Given the description of an element on the screen output the (x, y) to click on. 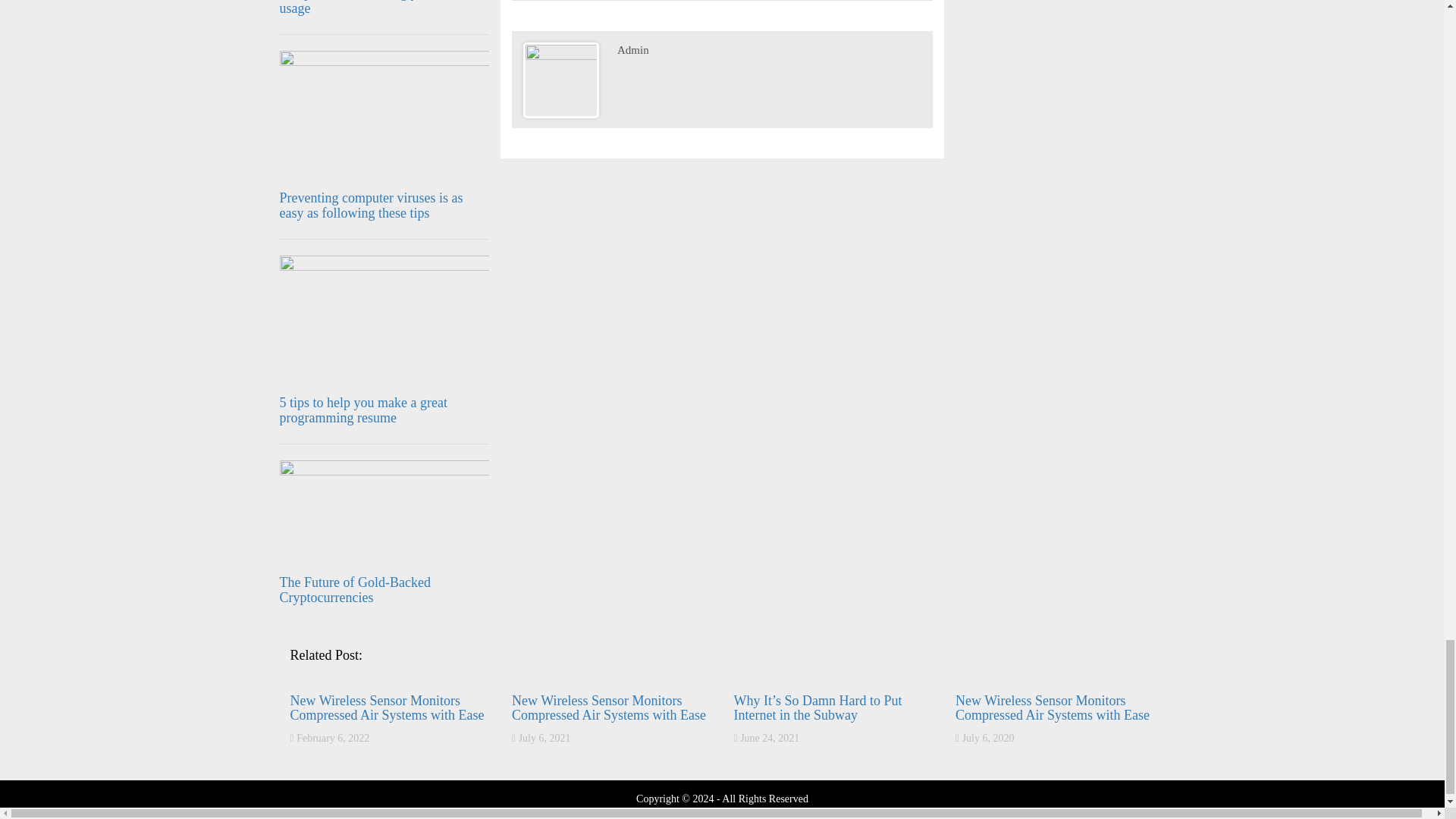
Posts by Admin (633, 50)
